Given the description of an element on the screen output the (x, y) to click on. 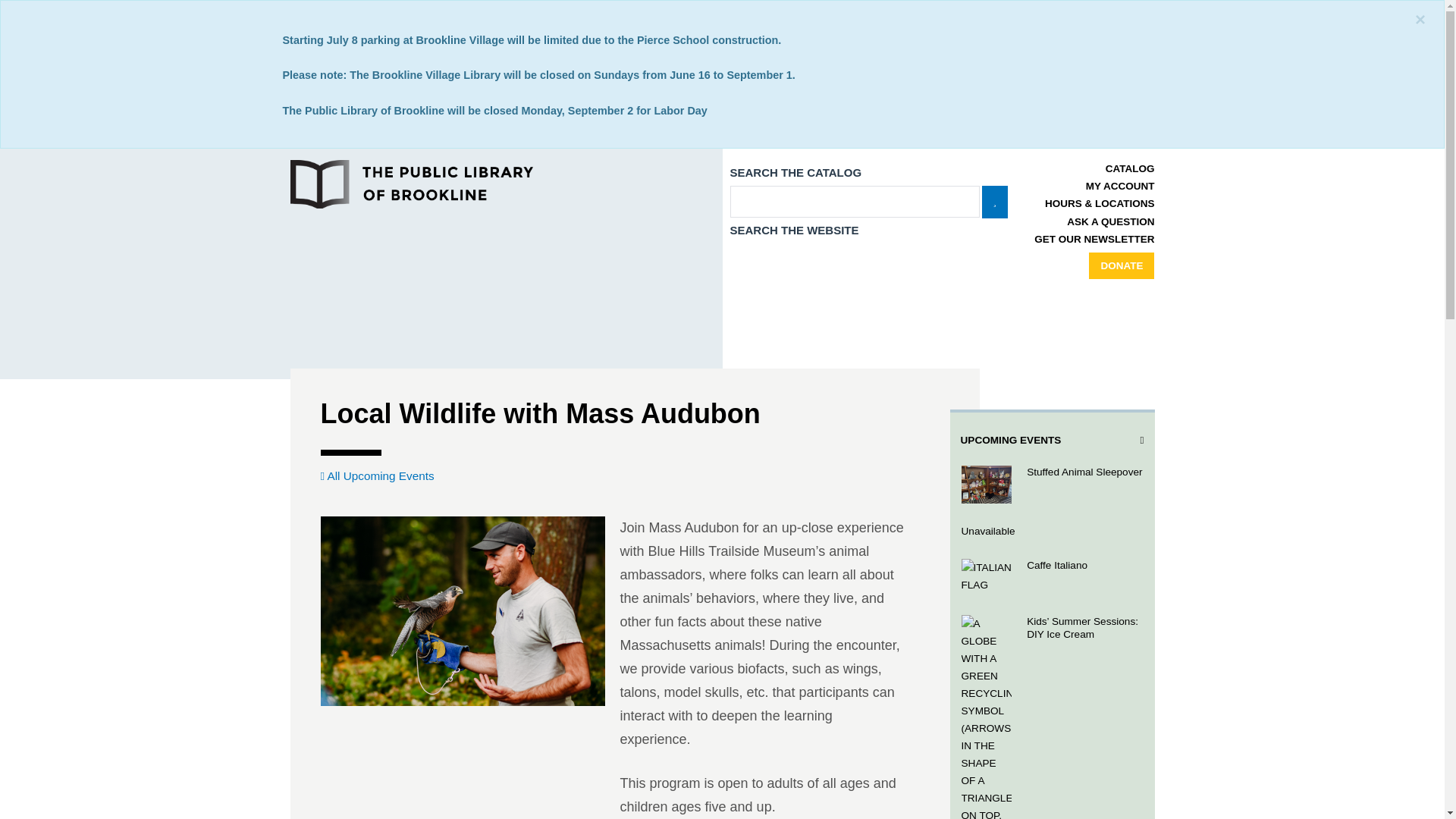
Unavailable (1051, 530)
All Upcoming Events (376, 475)
GET OUR NEWSLETTER (1093, 238)
MY ACCOUNT (1120, 185)
DONATE (1121, 265)
CATALOG (1129, 168)
Stuffed Animal Sleepover (1051, 484)
ASK A QUESTION (1110, 221)
Caffe Italiano (1051, 576)
